Given the description of an element on the screen output the (x, y) to click on. 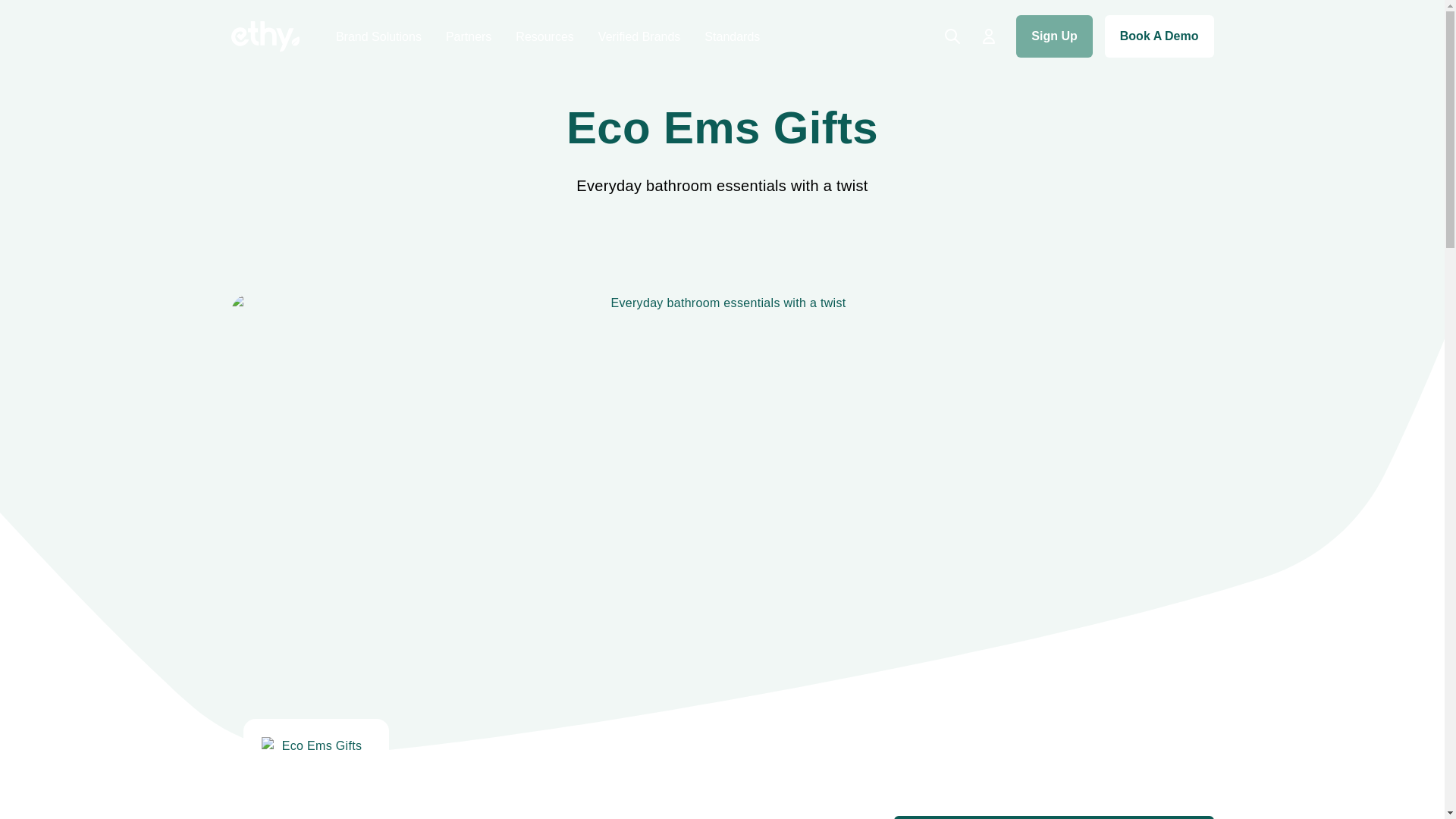
Sign Up (1054, 36)
ethy (264, 36)
Brand Solutions (379, 36)
Book A Demo (1159, 36)
Verified Brands (639, 36)
Search (952, 36)
Account (989, 36)
